Given the description of an element on the screen output the (x, y) to click on. 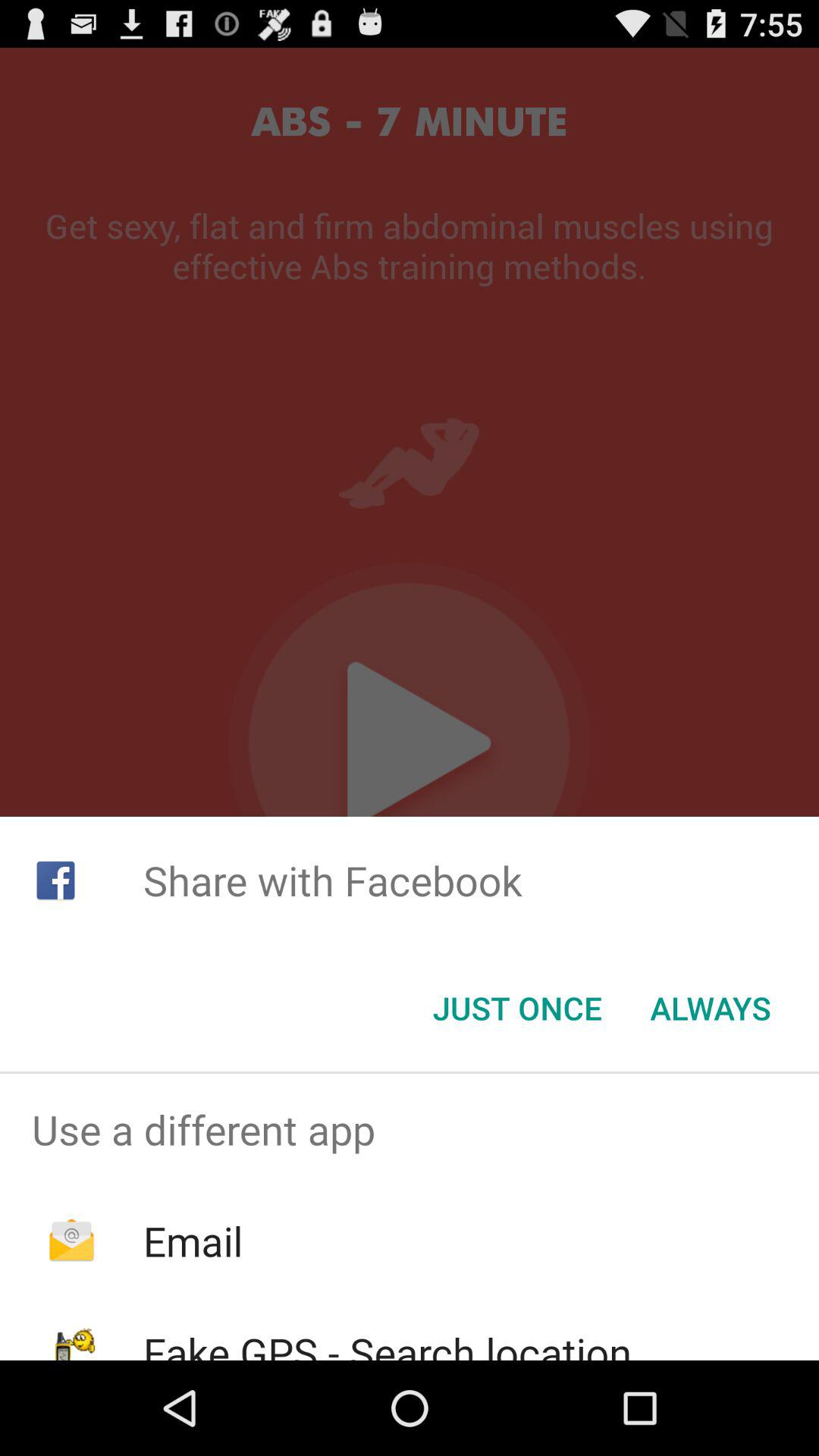
jump until email icon (192, 1240)
